Given the description of an element on the screen output the (x, y) to click on. 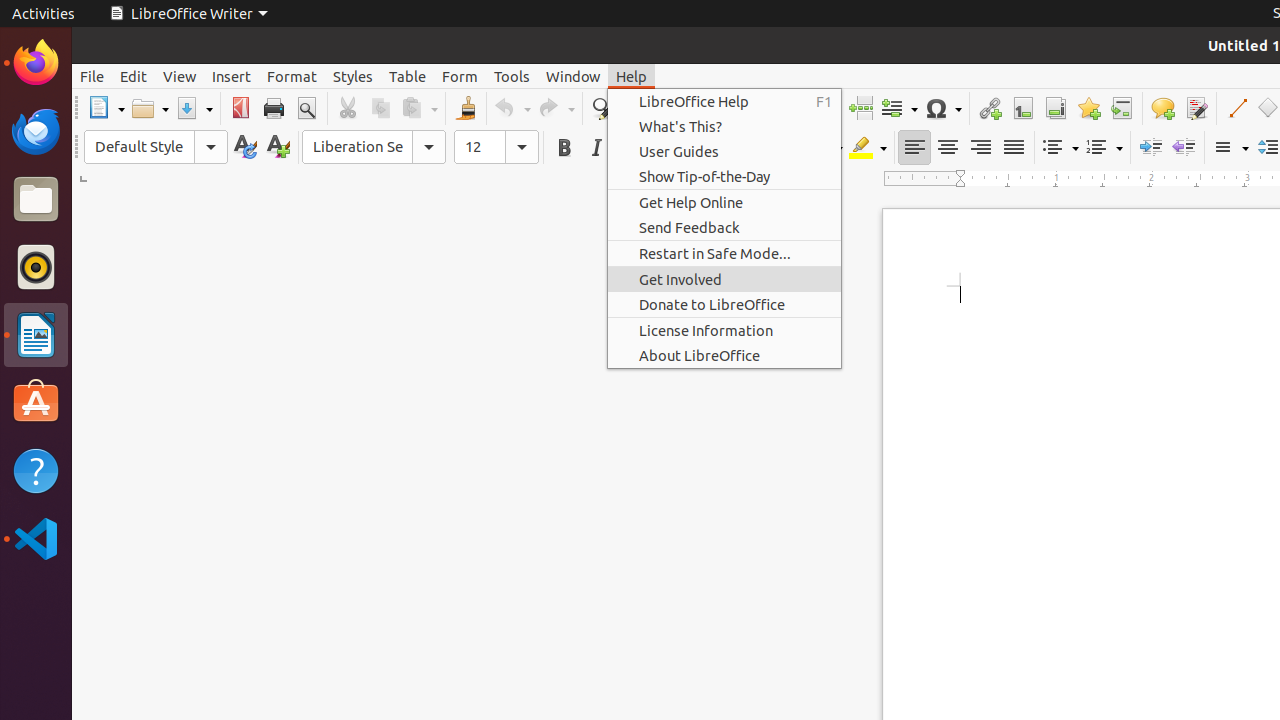
Print Preview Element type: toggle-button (306, 108)
Form Element type: menu (460, 76)
About LibreOffice Element type: menu-item (724, 355)
Update Element type: push-button (244, 147)
Bullets Element type: push-button (1060, 147)
